Given the description of an element on the screen output the (x, y) to click on. 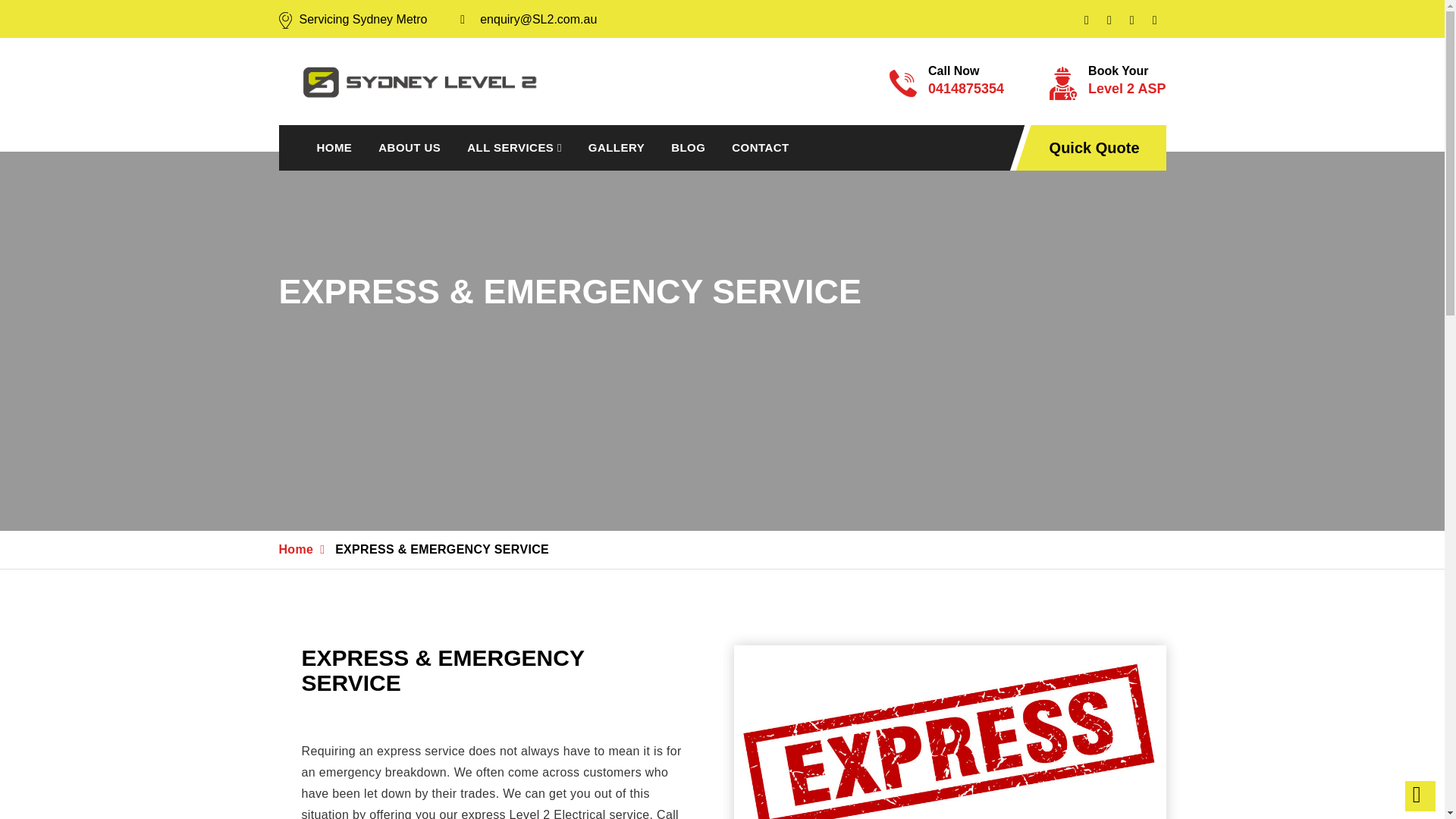
ABOUT US (409, 147)
Home (1107, 83)
GALLERY (296, 549)
Scroll to Top (616, 147)
ALL SERVICES (1420, 796)
CONTACT (514, 147)
Quick Quote (760, 147)
Servicing Sydney Metro (1094, 149)
